Given the description of an element on the screen output the (x, y) to click on. 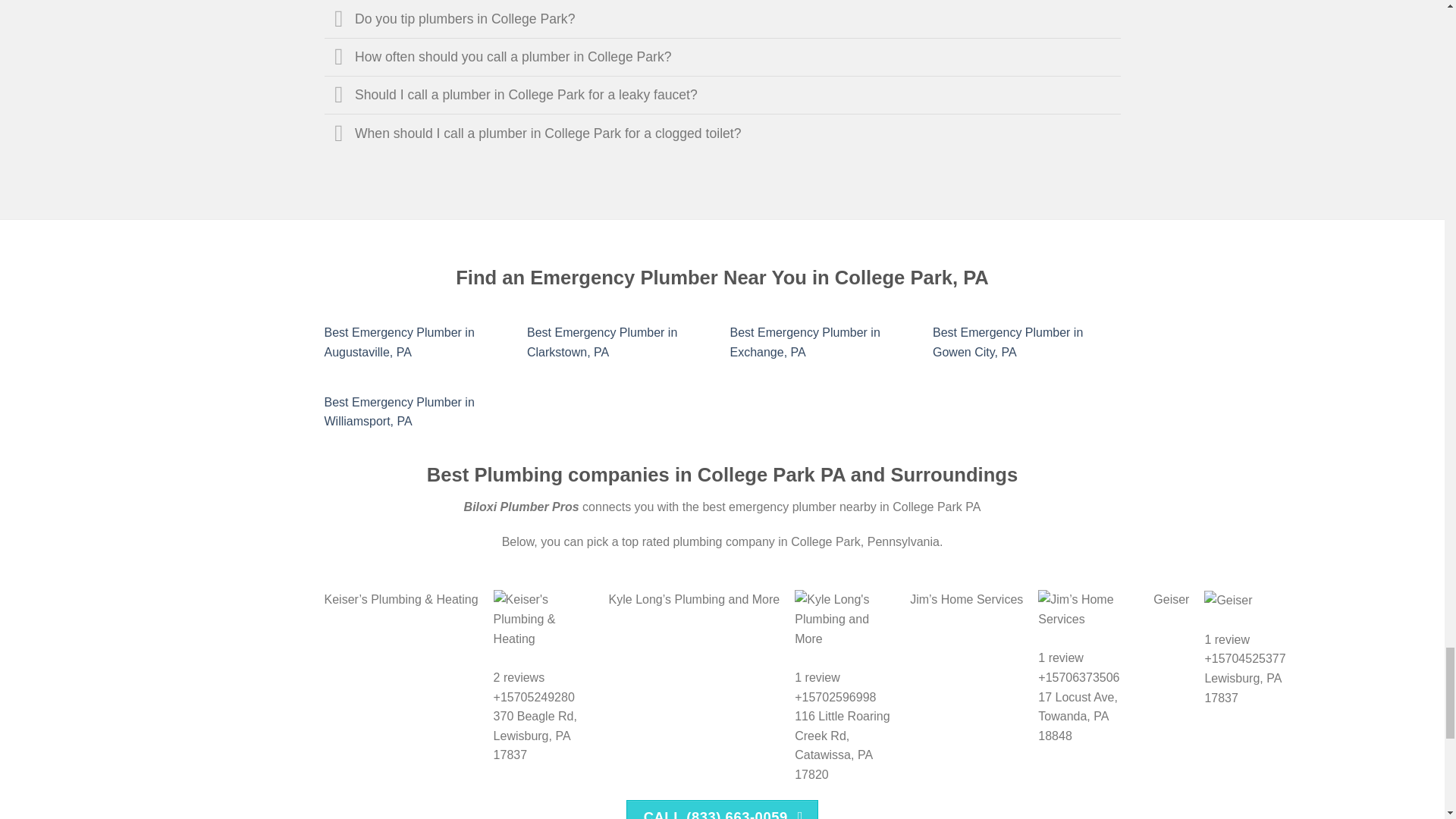
Should I call a plumber in College Park for a leaky faucet? (722, 94)
Do you tip plumbers in College Park? (722, 18)
Best Emergency Plumber in Gowen City, PA (1008, 341)
Best Emergency Plumber in Clarkstown, PA (602, 341)
Best Emergency Plumber in Augustaville, PA (399, 341)
How often should you call a plumber in College Park? (722, 56)
Best Emergency Plumber in Exchange, PA (804, 341)
Best Emergency Plumber in Williamsport, PA (399, 411)
Best Emergency Plumber in Augustaville, PA (399, 341)
